Given the description of an element on the screen output the (x, y) to click on. 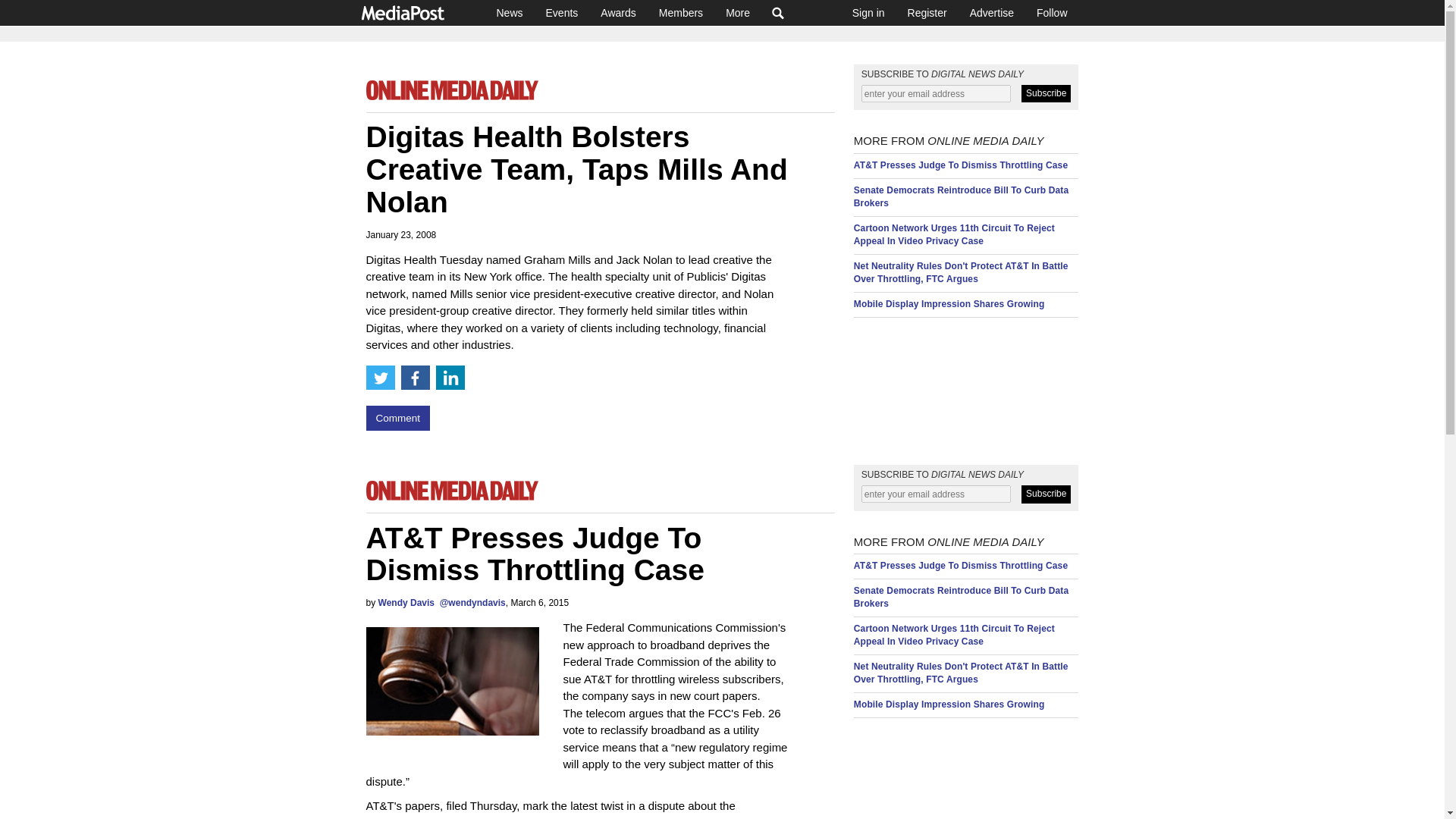
Share on Twitter (379, 377)
Subscribe (1046, 493)
News (509, 12)
Share on LinkedIn (449, 377)
Subscribe (1046, 93)
Share on Facebook (414, 377)
